Given the description of an element on the screen output the (x, y) to click on. 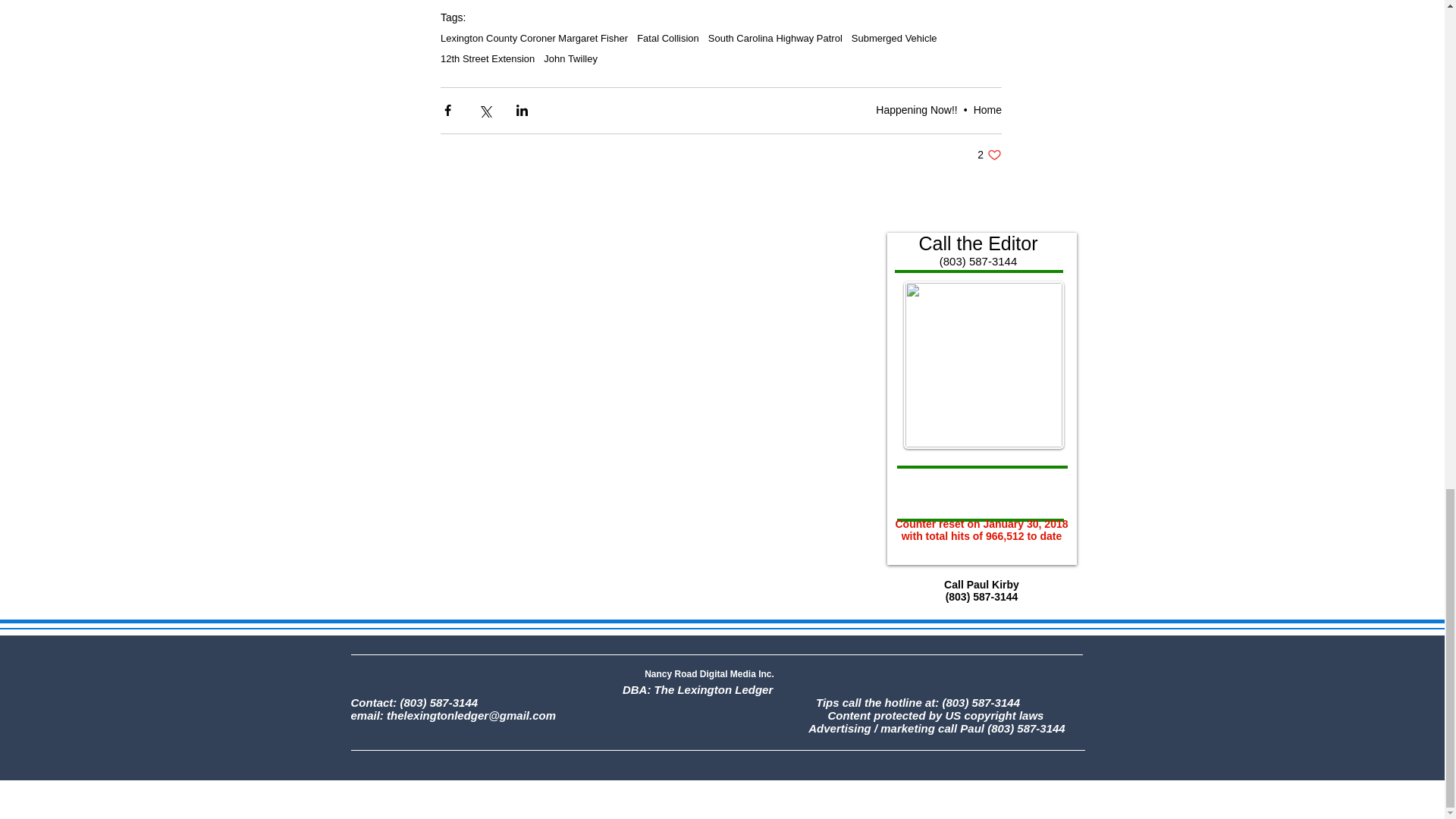
John Twilley (569, 58)
Happening Now!! (916, 110)
Submerged Vehicle (894, 38)
South Carolina Highway Patrol (775, 38)
Home (987, 110)
12th Street Extension (487, 58)
Lexington County Coroner Margaret Fisher (534, 38)
Fatal Collision (667, 38)
